Given the description of an element on the screen output the (x, y) to click on. 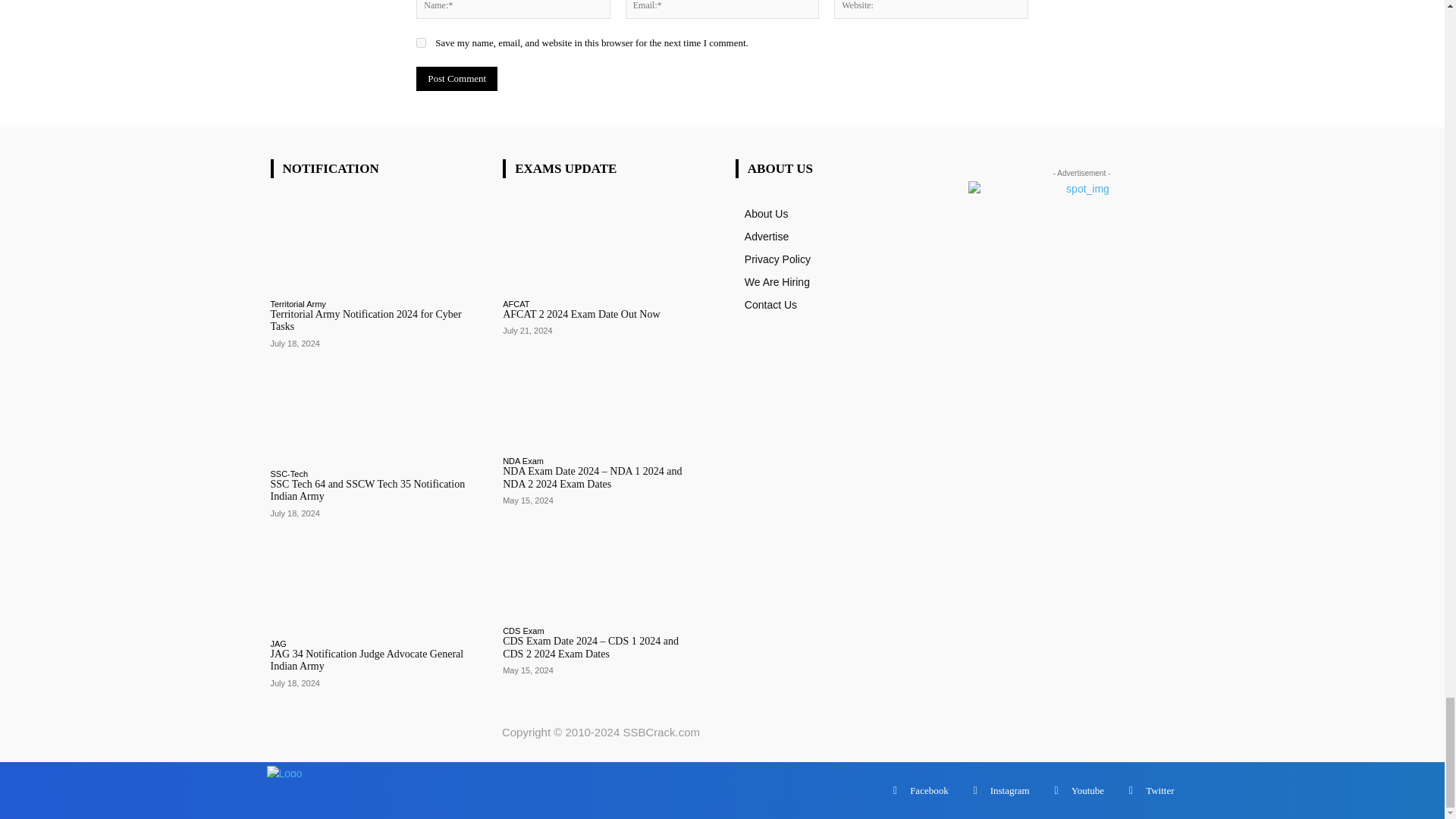
Post Comment (456, 78)
yes (421, 42)
